Given the description of an element on the screen output the (x, y) to click on. 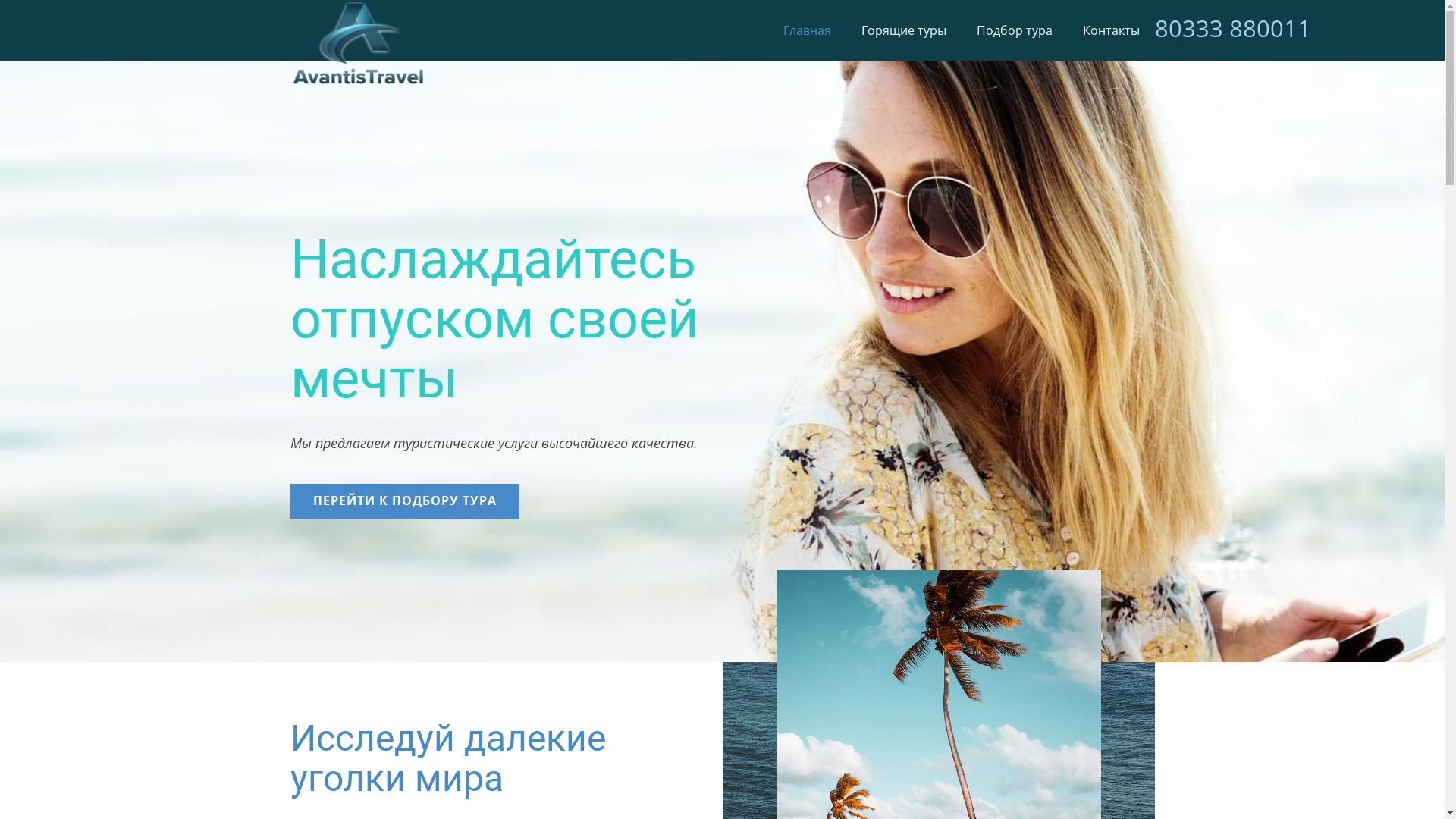
80333 880011 Element type: text (1232, 28)
